Given the description of an element on the screen output the (x, y) to click on. 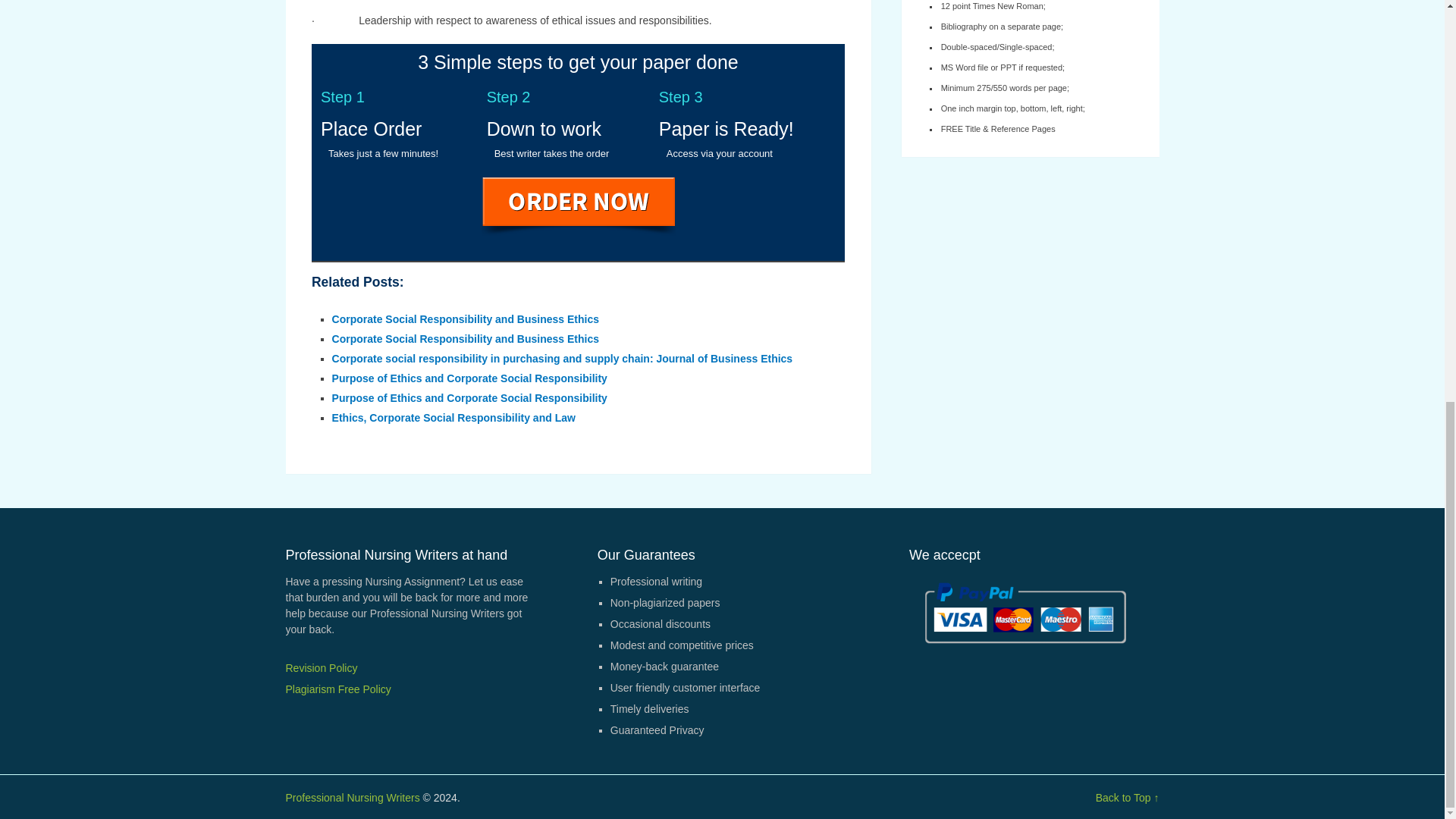
Ethics, Corporate Social Responsibility and Law (453, 417)
Purpose of Ethics and Corporate Social Responsibility (469, 398)
Purpose of Ethics and Corporate Social Responsibility (469, 378)
Corporate Social Responsibility and Business Ethics (464, 338)
Easing Nursing Academic Writing Pain! (352, 797)
Corporate Social Responsibility and Business Ethics (464, 318)
Corporate Social Responsibility and Business Ethics (464, 318)
Purpose of Ethics and Corporate Social Responsibility (469, 398)
Plagiarism Free Policy (337, 689)
Revision Policy (320, 667)
Professional Nursing Writers (352, 797)
Purpose of Ethics and Corporate Social Responsibility (469, 378)
Ethics, Corporate Social Responsibility and Law (453, 417)
